Given the description of an element on the screen output the (x, y) to click on. 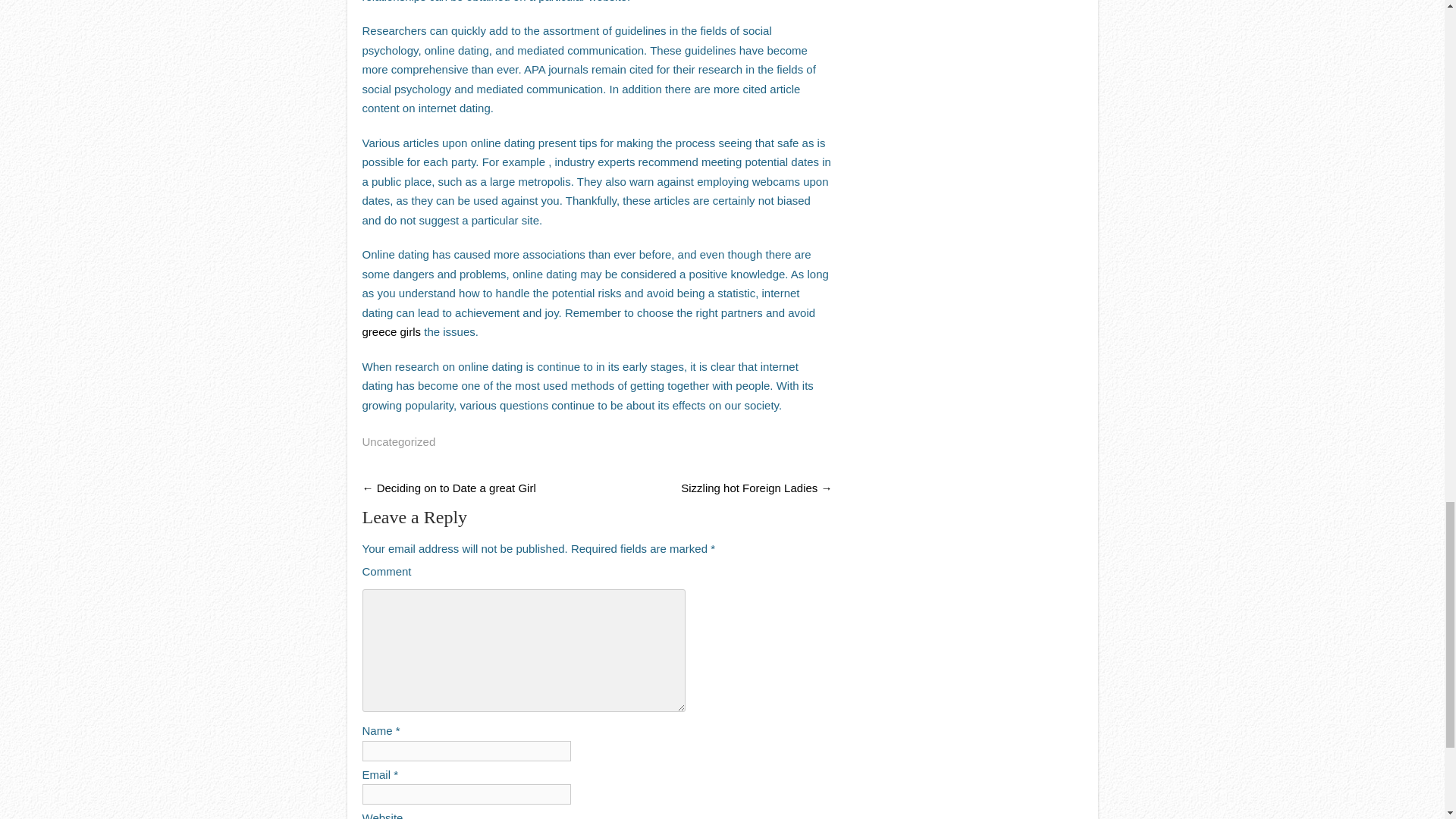
greece girls (392, 331)
Uncategorized (398, 440)
